Given the description of an element on the screen output the (x, y) to click on. 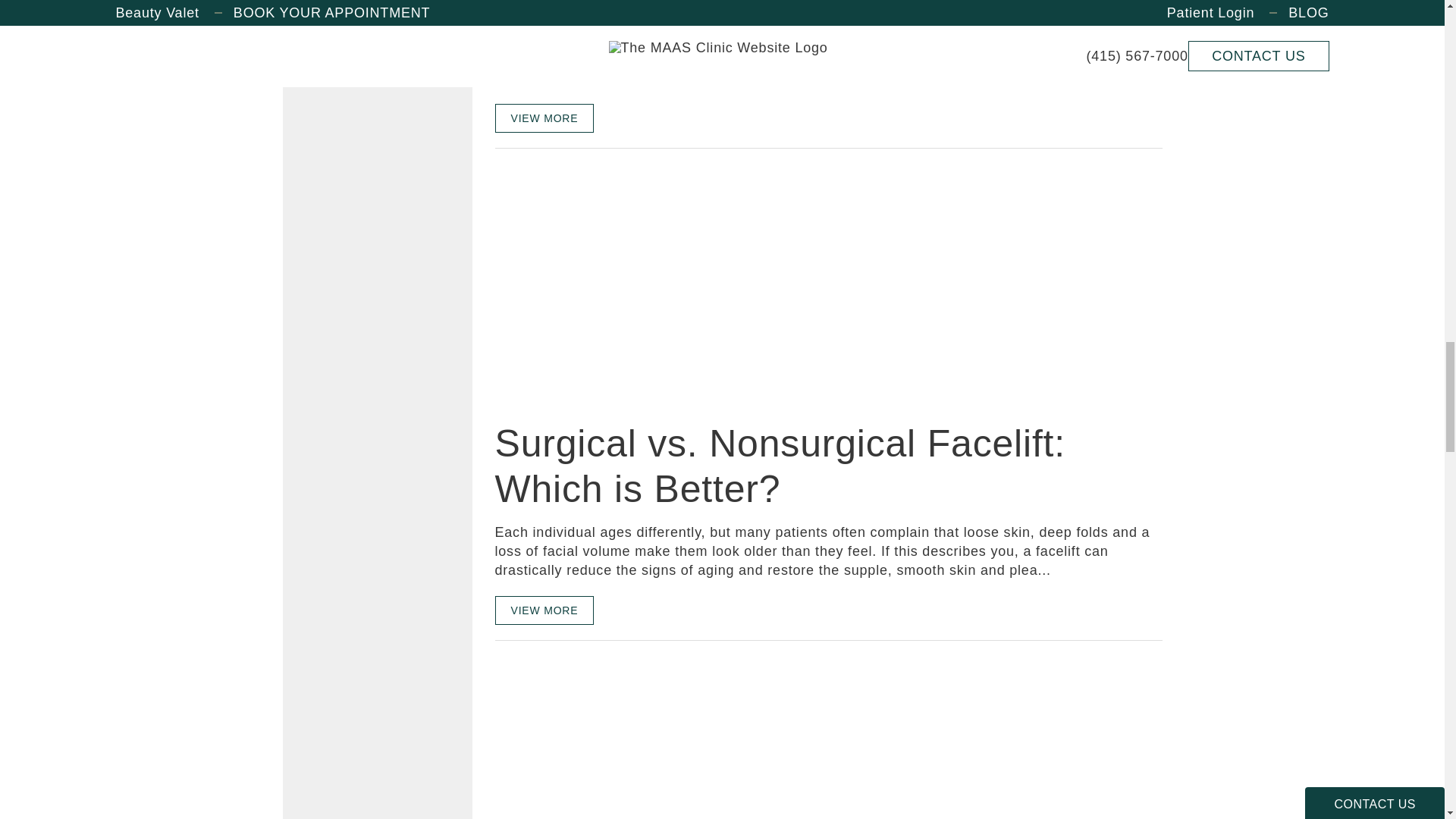
View full blog article (544, 118)
